Given the description of an element on the screen output the (x, y) to click on. 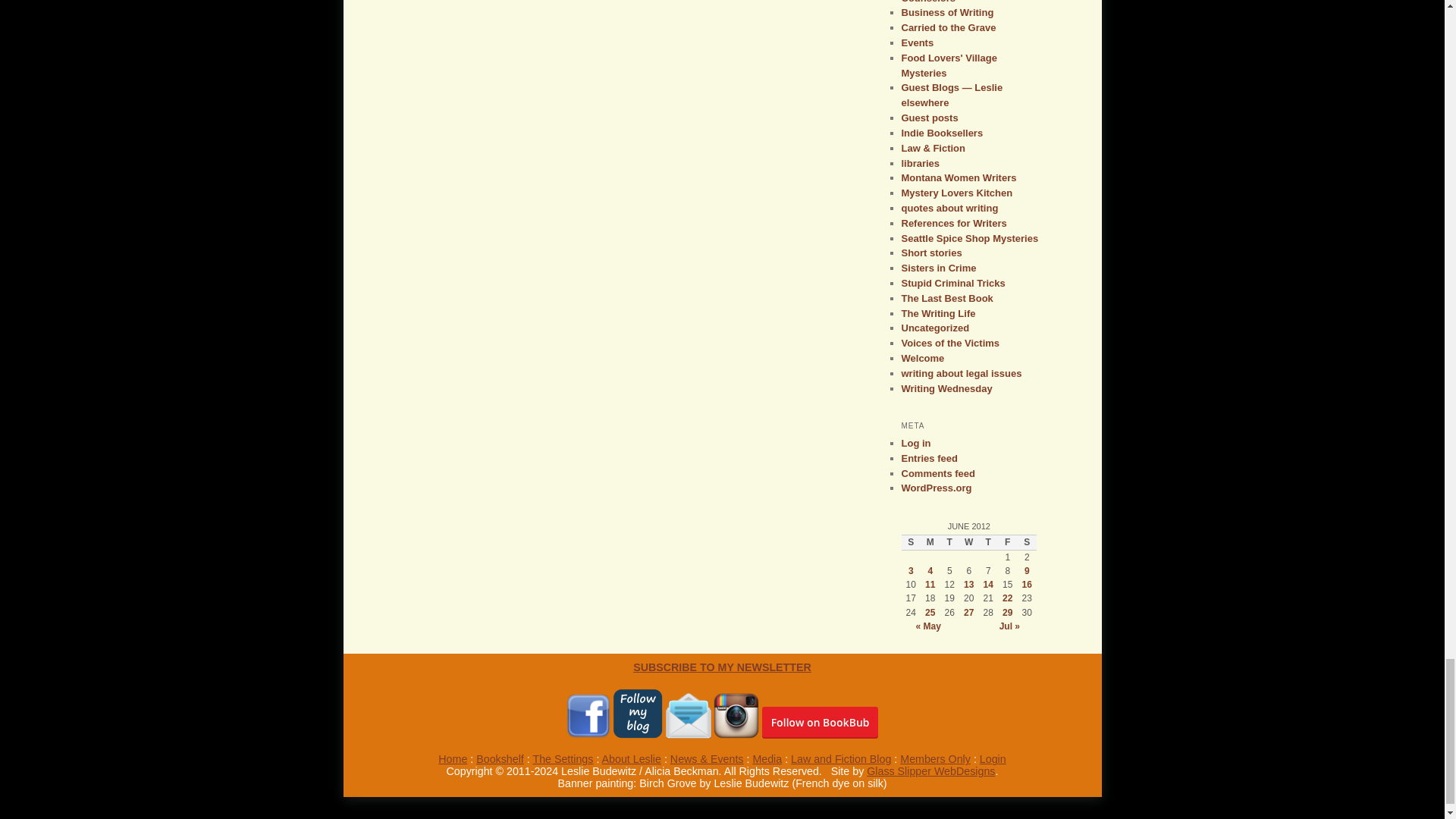
Saturday (1026, 541)
Thursday (987, 541)
Wednesday (968, 541)
Monday (930, 541)
Sunday (910, 541)
Tuesday (949, 541)
Friday (1007, 541)
